Given the description of an element on the screen output the (x, y) to click on. 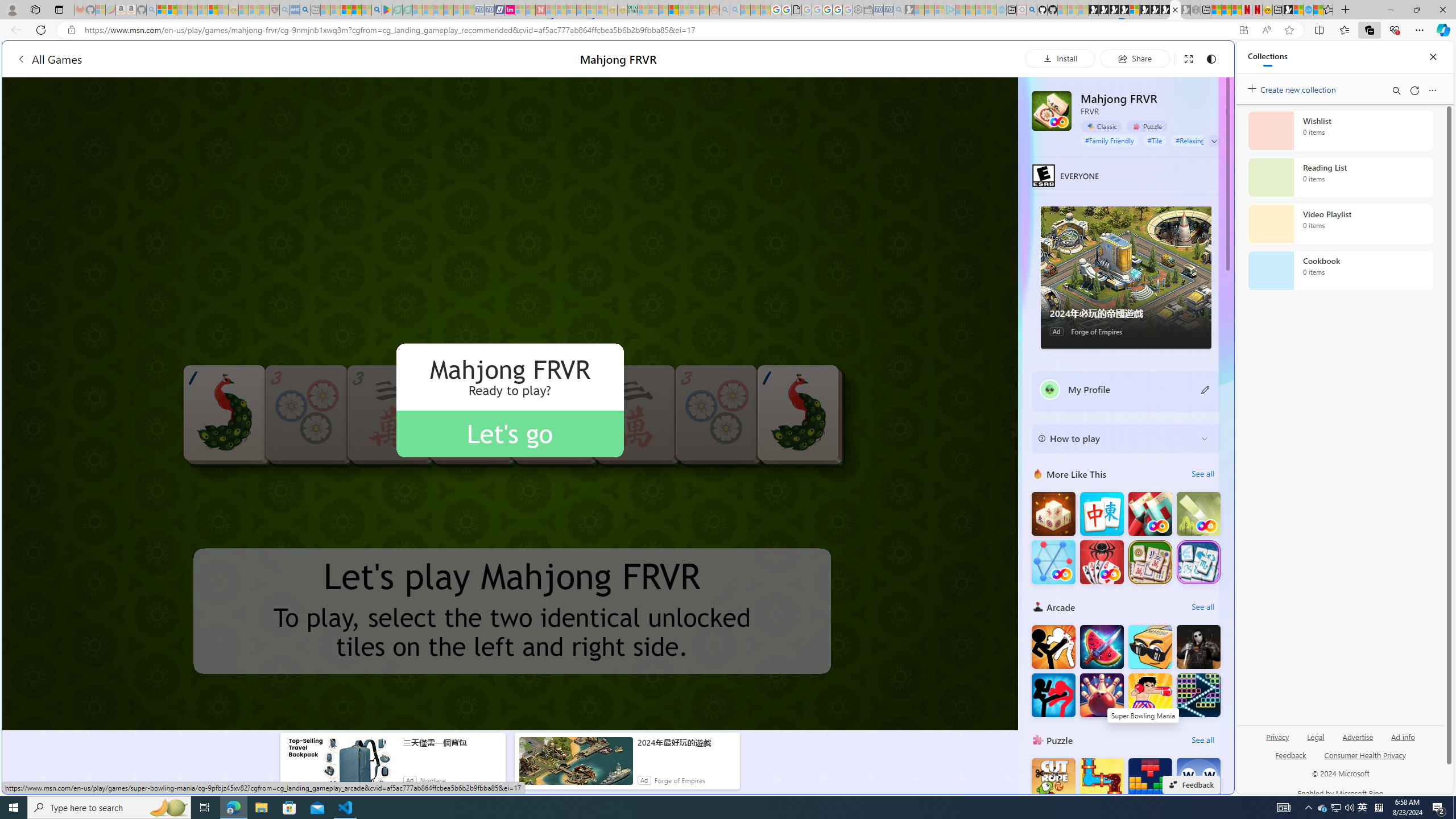
#Family Friendly (1109, 140)
See all (1202, 739)
All Games (49, 58)
#Tile (1154, 140)
